Given the description of an element on the screen output the (x, y) to click on. 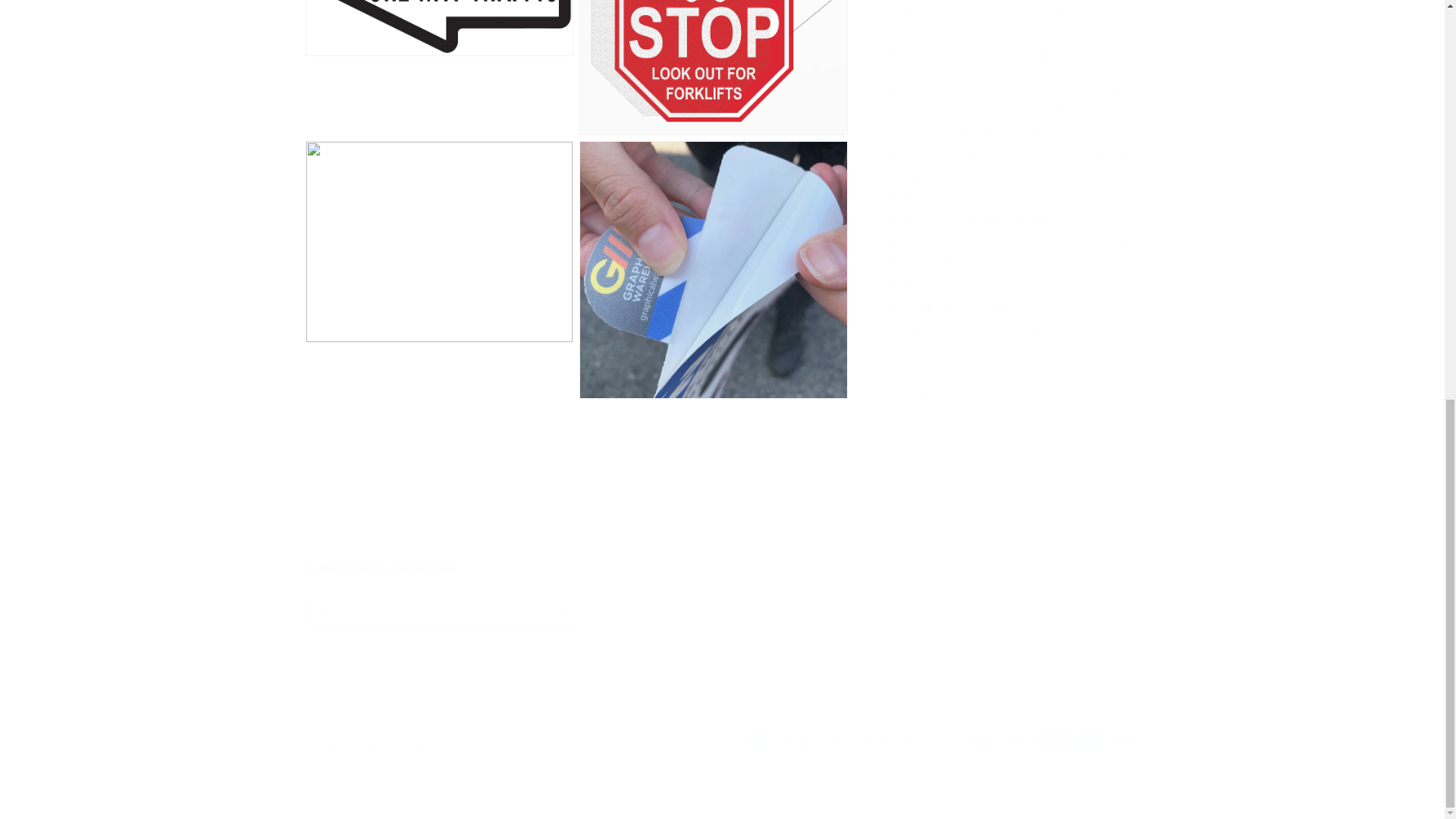
Open media 4 in modal (438, 81)
Open media 5 in modal (713, 81)
